Given the description of an element on the screen output the (x, y) to click on. 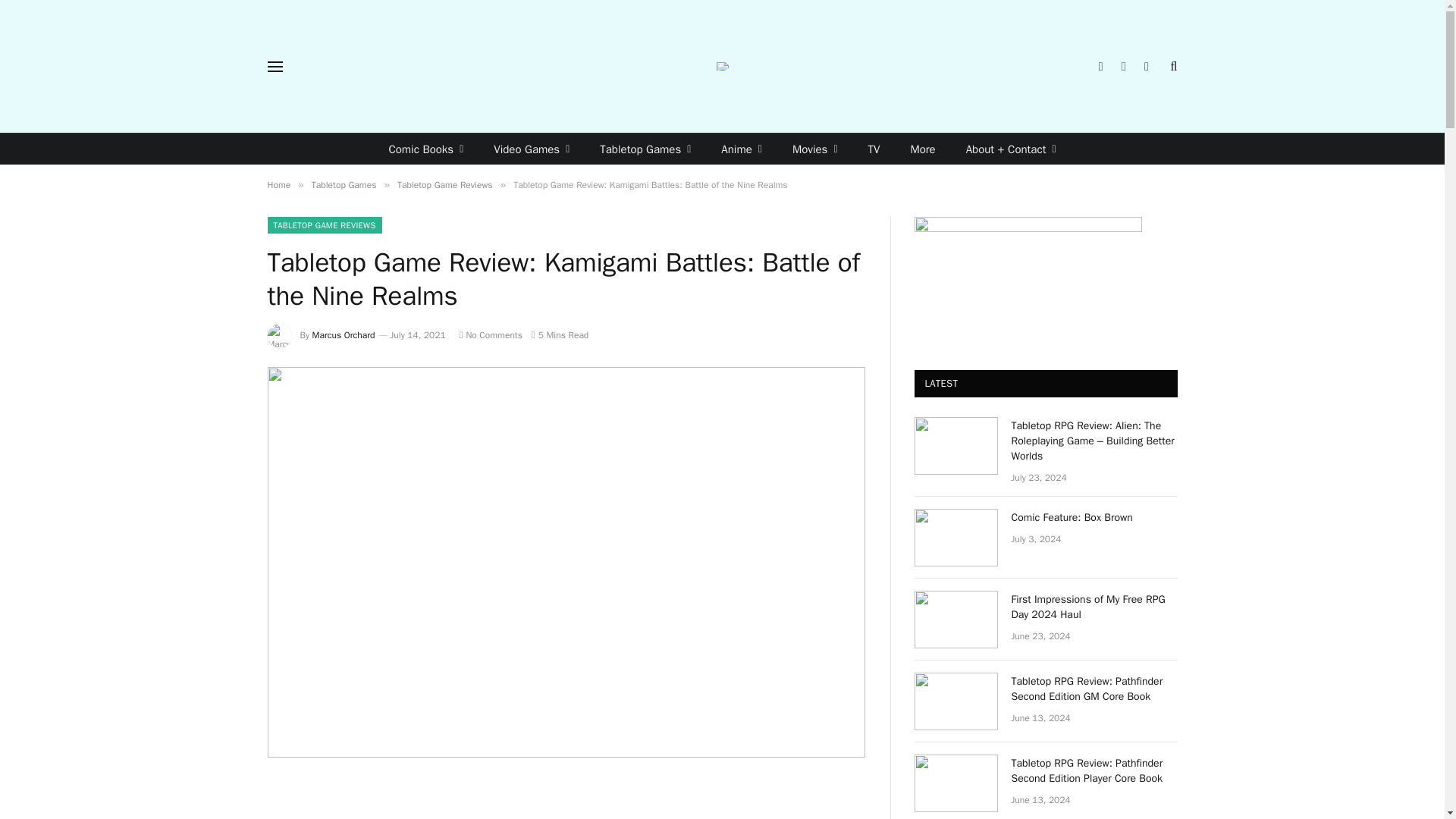
Posts by Marcus Orchard (344, 335)
More (922, 148)
Anime (741, 148)
Video Games (532, 148)
Tabletop Games (645, 148)
Movies (815, 148)
Comic Books (425, 148)
TV (873, 148)
Home (277, 184)
